Given the description of an element on the screen output the (x, y) to click on. 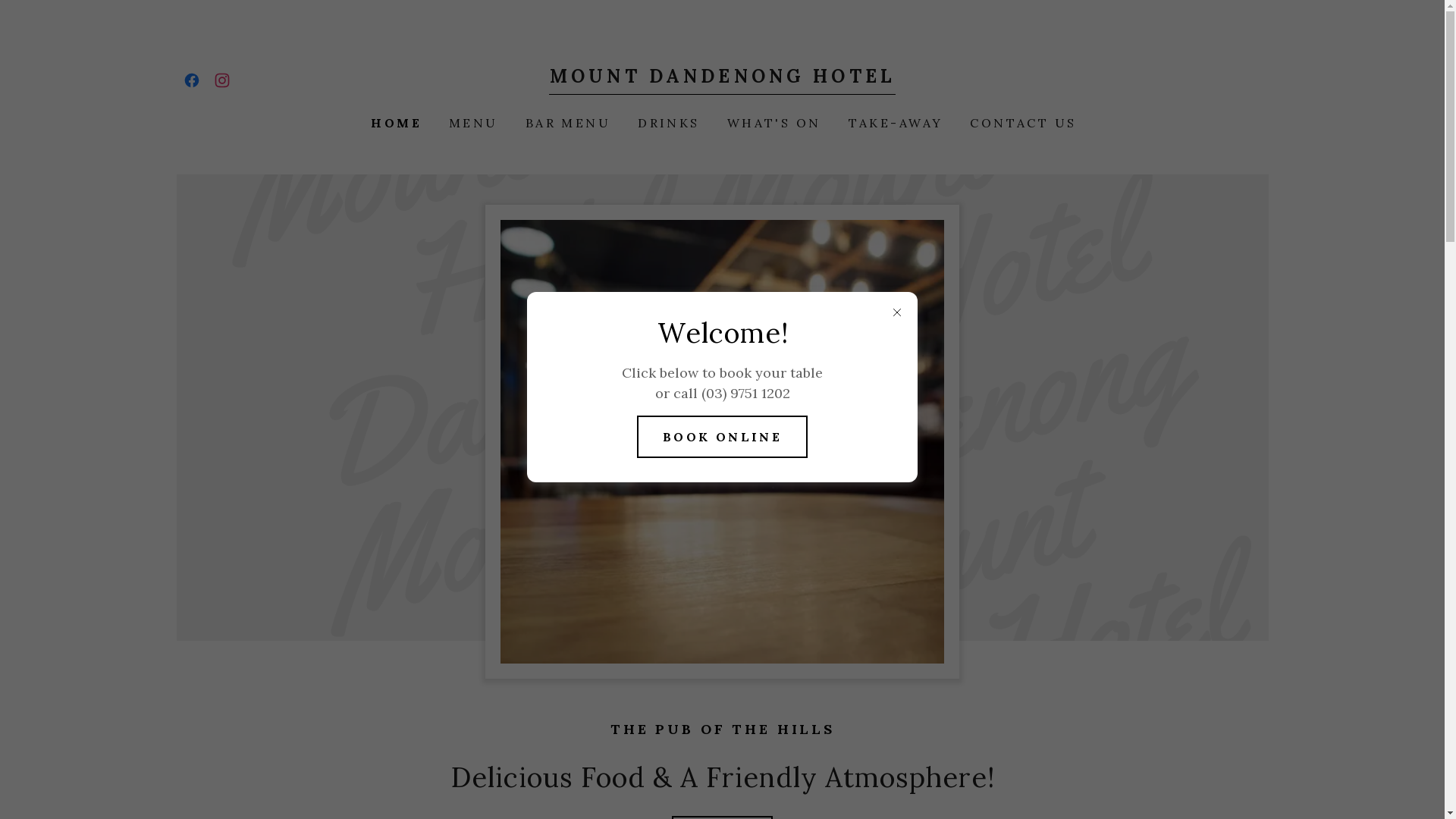
MENU Element type: text (471, 122)
DRINKS Element type: text (667, 122)
BAR MENU Element type: text (566, 122)
CONTACT US Element type: text (1021, 122)
MOUNT DANDENONG HOTEL Element type: text (722, 77)
WHAT'S ON Element type: text (772, 122)
BOOK ONLINE Element type: text (722, 436)
TAKE-AWAY Element type: text (893, 122)
HOME Element type: text (394, 122)
